Given the description of an element on the screen output the (x, y) to click on. 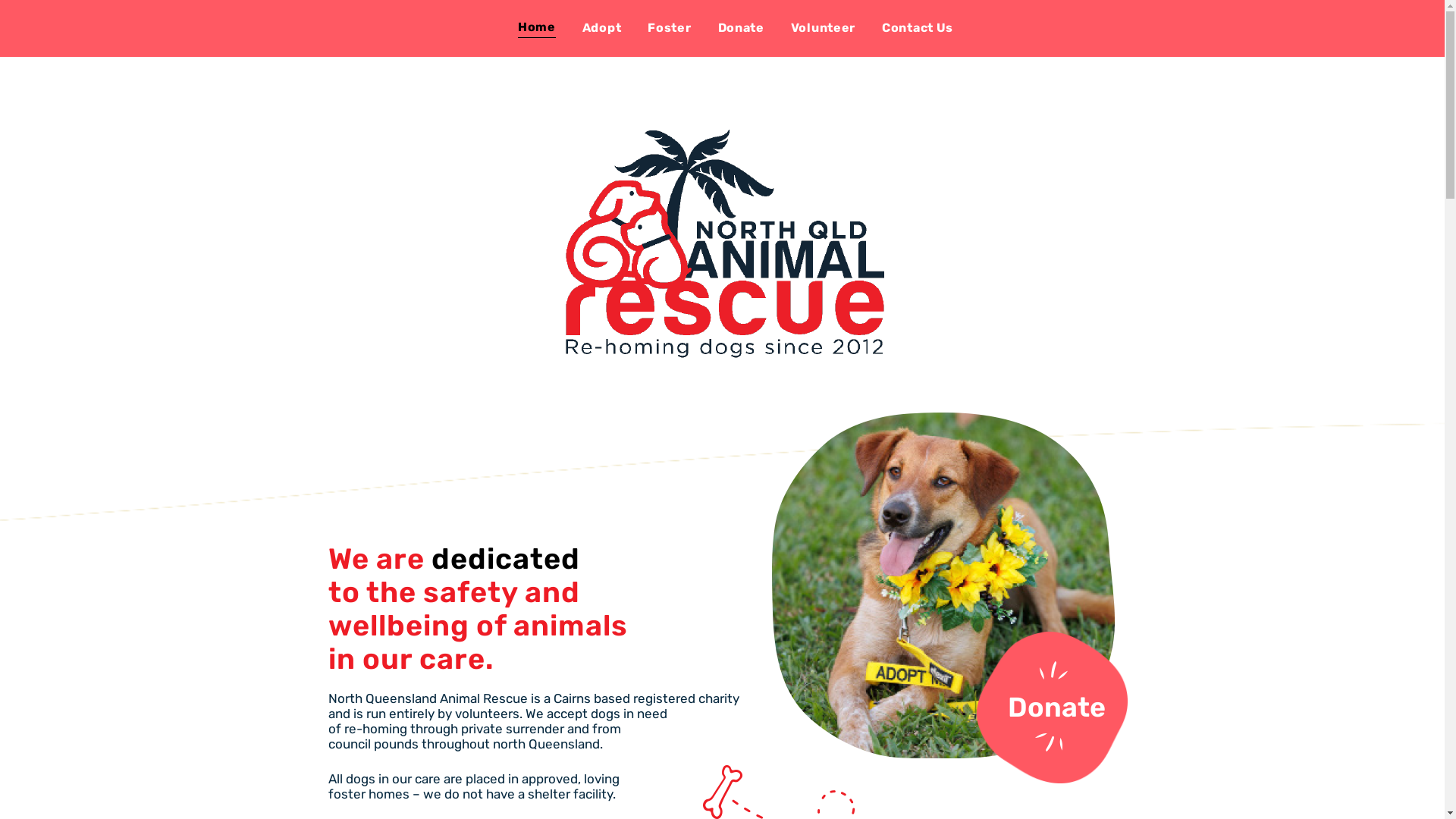
Foster Element type: text (668, 26)
Adopt Element type: text (601, 26)
Contact Us Element type: text (917, 26)
Home Element type: text (536, 26)
Donate Element type: text (1055, 706)
Volunteer Element type: text (822, 26)
Donate Element type: text (740, 26)
